Given the description of an element on the screen output the (x, y) to click on. 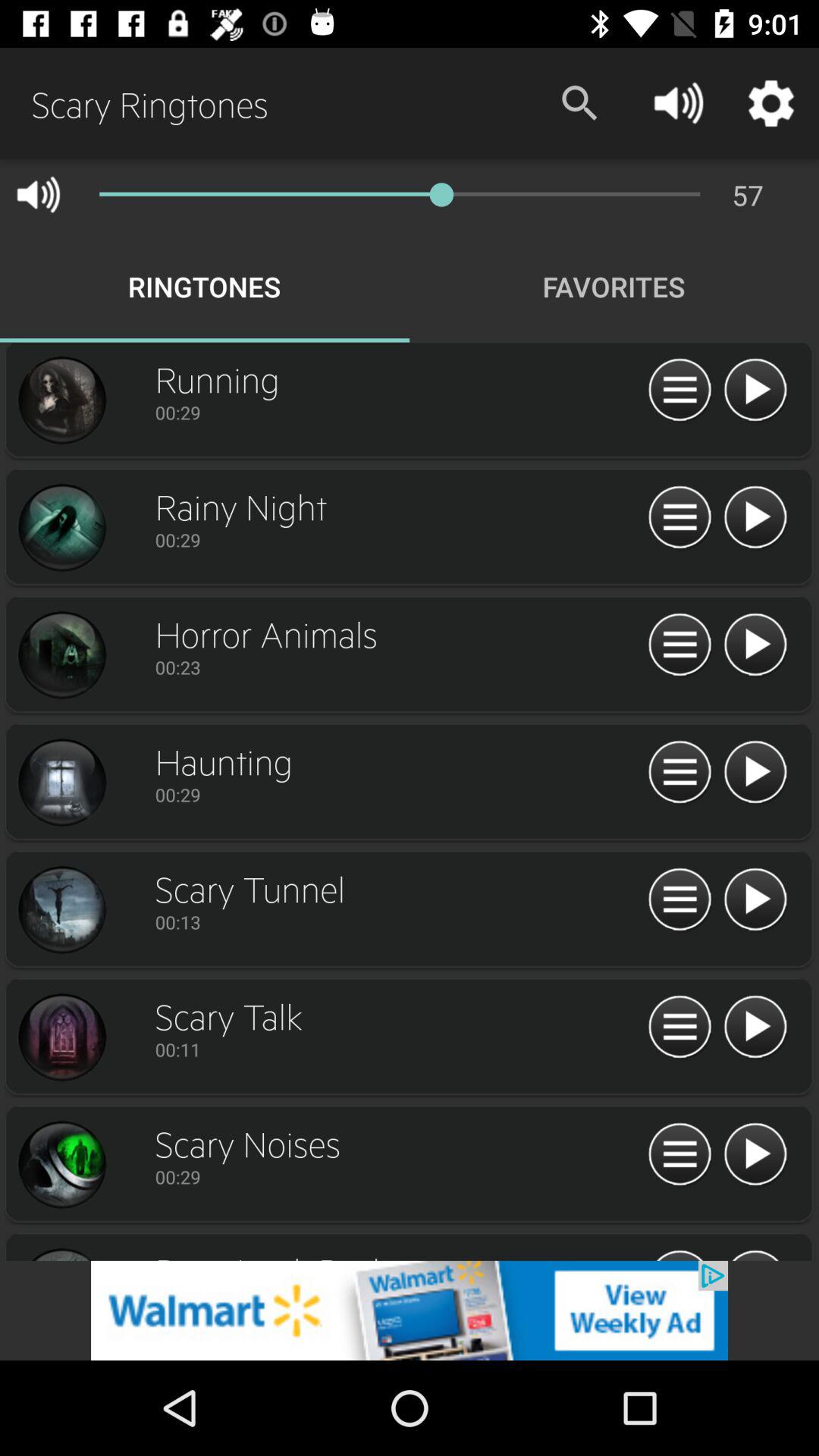
song option (61, 528)
